Given the description of an element on the screen output the (x, y) to click on. 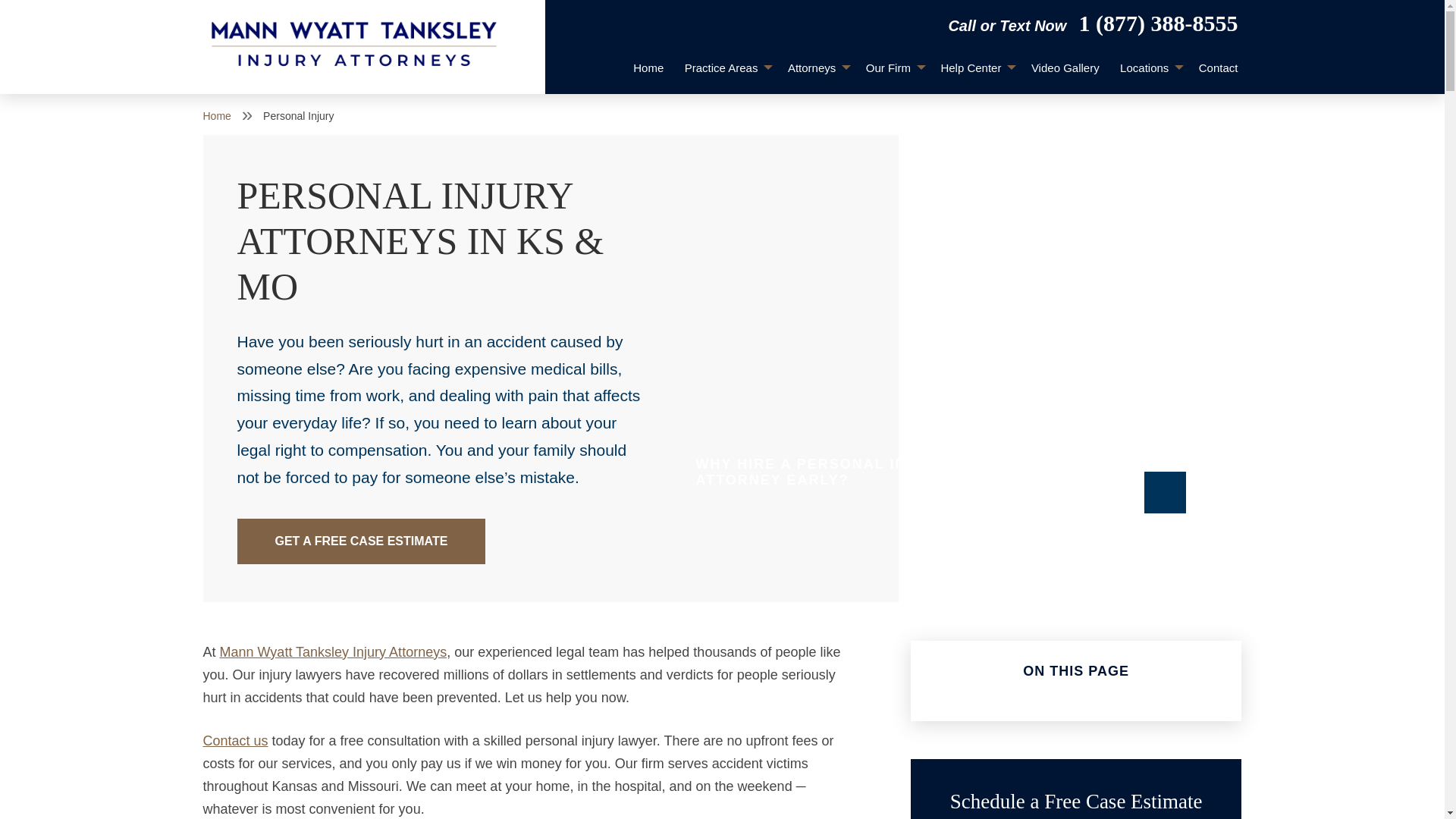
Help Center (975, 68)
Our Firm (893, 68)
Practice Areas (725, 68)
Locations (1148, 68)
Video Gallery (1065, 68)
Attorneys (815, 68)
Attorneys (815, 68)
Practice Areas (725, 68)
Home (648, 68)
Our Firm (893, 68)
Home (648, 68)
